Given the description of an element on the screen output the (x, y) to click on. 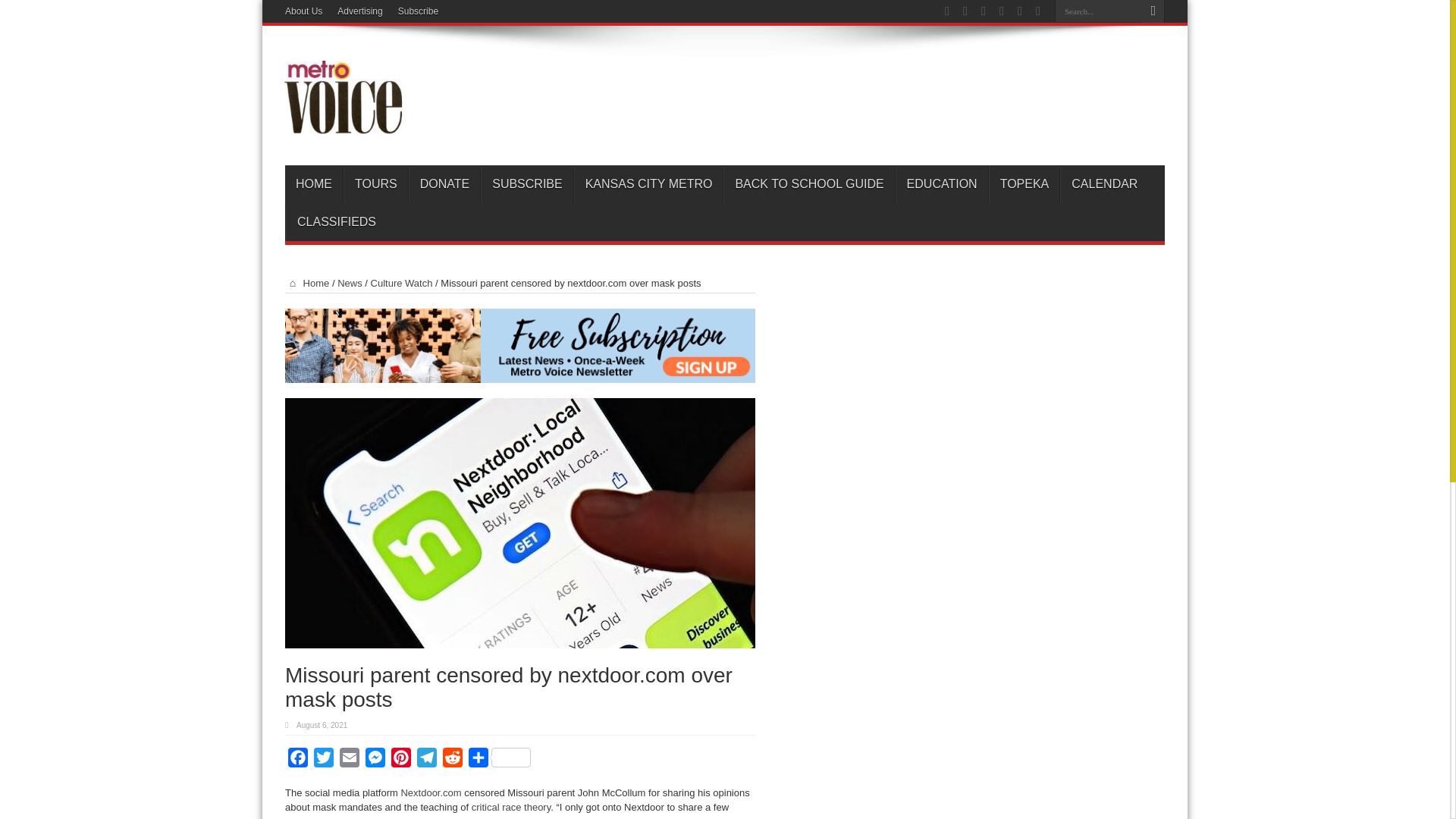
Email (349, 760)
Reddit (452, 760)
BACK TO SCHOOL GUIDE (808, 184)
SUBSCRIBE (526, 184)
EDUCATION (941, 184)
Pinterest (400, 760)
Search... (1097, 11)
Twitter (323, 760)
About Us (303, 11)
Metro Voice News (342, 126)
